Given the description of an element on the screen output the (x, y) to click on. 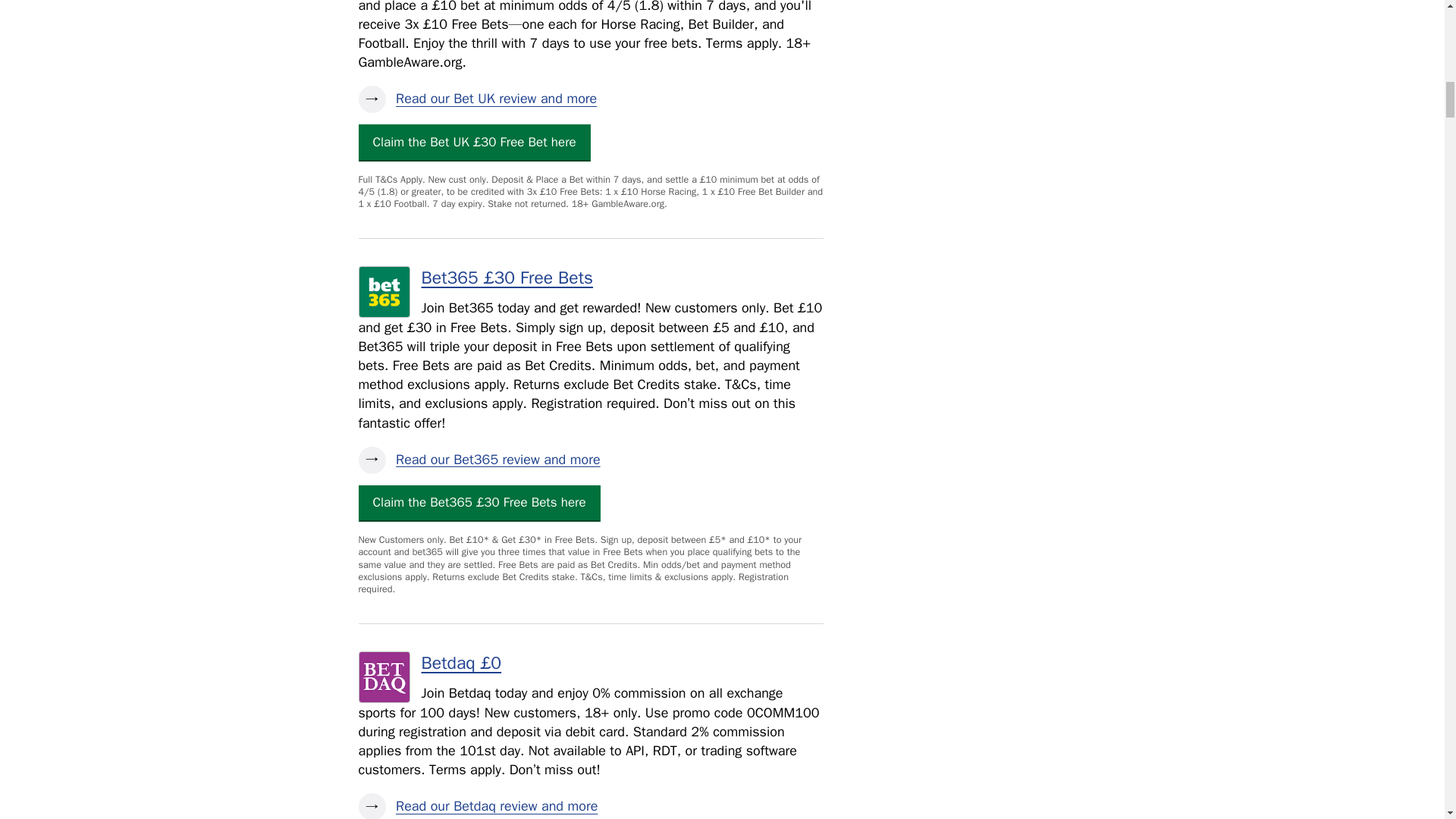
Read our Bet365 review and more (590, 460)
Read our Betdaq review and more (590, 806)
Read our Bet UK review and more (590, 99)
